Given the description of an element on the screen output the (x, y) to click on. 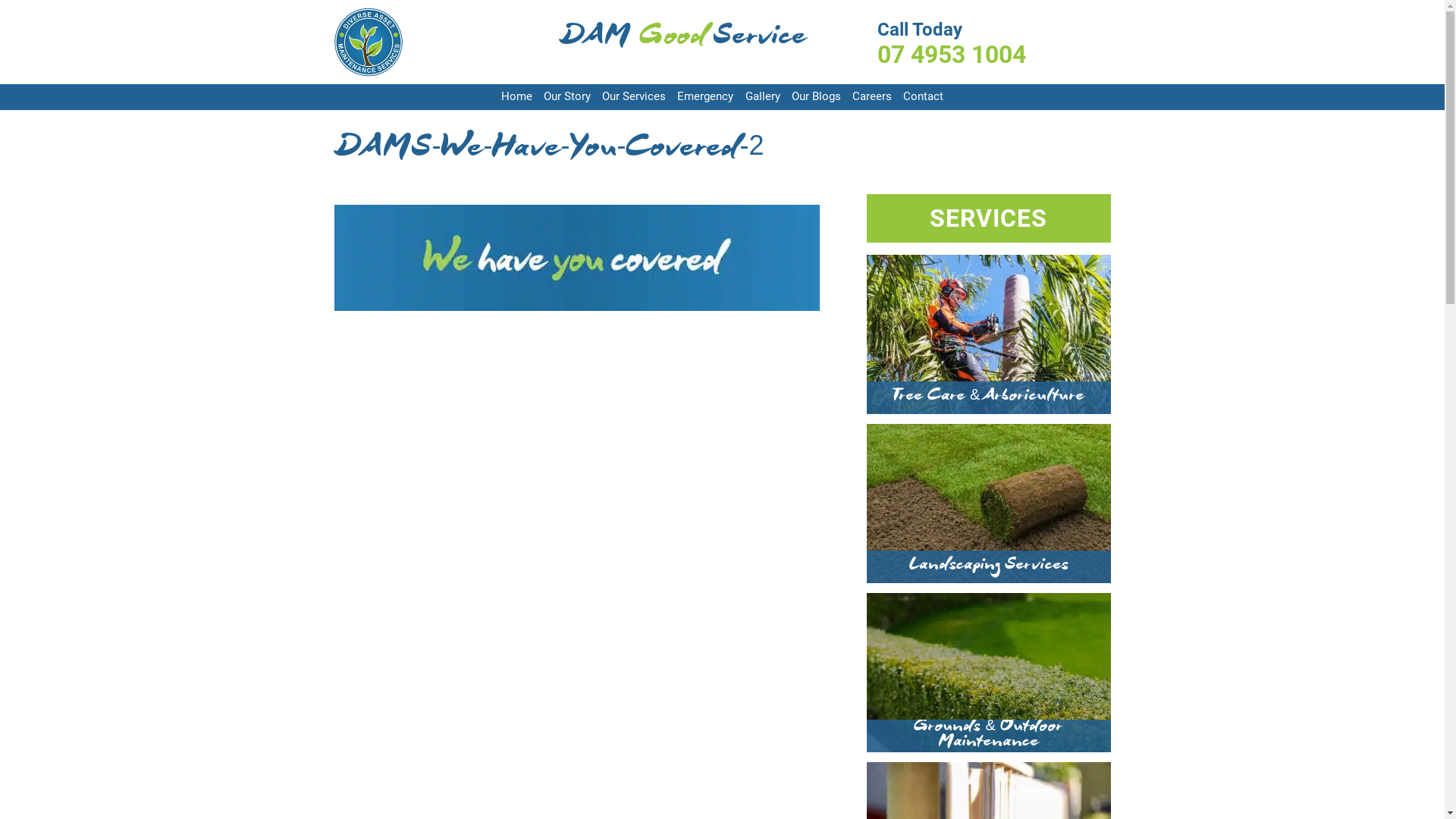
Landscaping Services Element type: text (988, 567)
Our Blogs Element type: text (815, 97)
07 4953 1004 Element type: text (993, 54)
Contact Element type: text (923, 97)
Grounds & Outdoor Maintenance Element type: text (987, 736)
Tree Care & Arboriculture Element type: text (988, 398)
Our Story Element type: text (566, 97)
Gallery Element type: text (762, 97)
Home Element type: text (516, 97)
Emergency Element type: text (705, 97)
Careers Element type: text (871, 97)
Our Services Element type: text (633, 97)
